Given the description of an element on the screen output the (x, y) to click on. 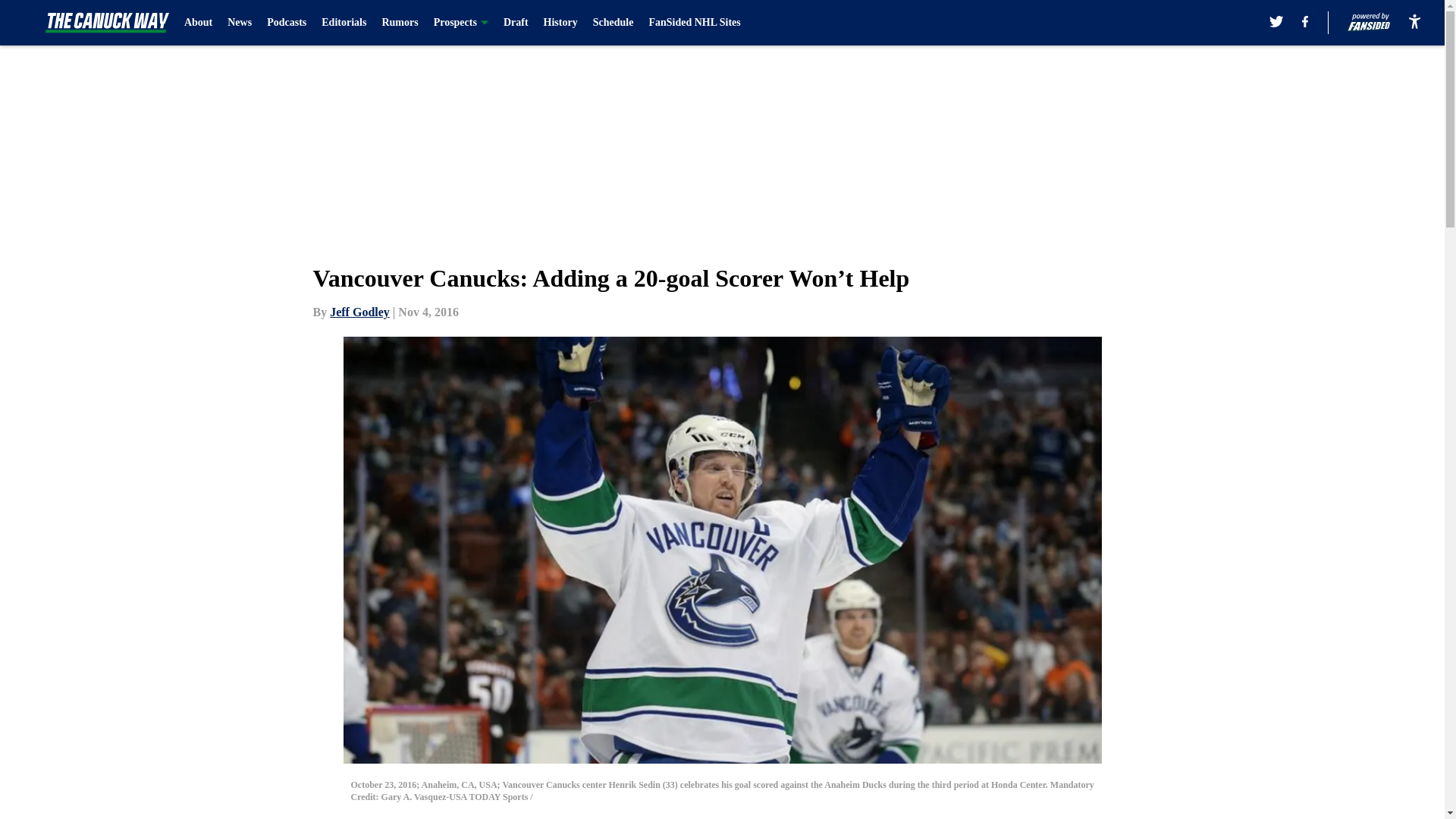
FanSided NHL Sites (693, 22)
History (560, 22)
News (239, 22)
Podcasts (285, 22)
Editorials (343, 22)
Jeff Godley (360, 311)
Schedule (612, 22)
Rumors (399, 22)
Draft (515, 22)
About (198, 22)
